Given the description of an element on the screen output the (x, y) to click on. 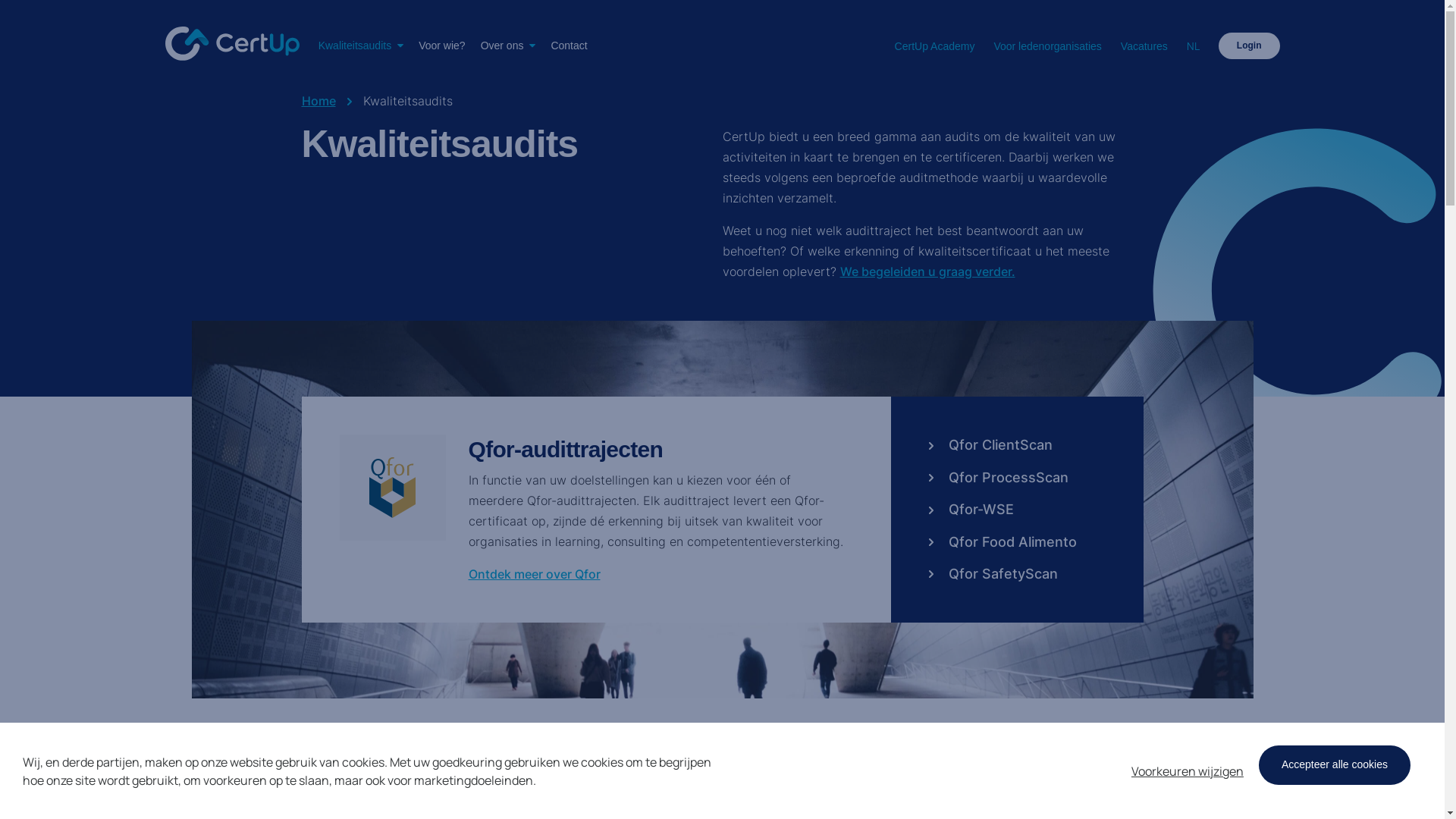
Voor ledenorganisaties Element type: text (1047, 46)
Qfor ClientScan Element type: text (989, 444)
Qfor-WSE Element type: text (970, 509)
CertUp Academy Element type: text (934, 46)
Qfor Food Alimento Element type: text (1002, 541)
Login Element type: text (1249, 44)
Ontdek meer over Qfor Element type: text (534, 573)
Vacatures Element type: text (1143, 46)
Kwaliteitsaudits Element type: text (360, 44)
Home Element type: text (318, 101)
Contact Element type: text (568, 44)
Qfor ProcessScan Element type: text (997, 477)
Over ons Element type: text (508, 44)
We begeleiden u graag verder. Element type: text (927, 271)
Qfor SafetyScan Element type: text (992, 573)
Voor wie? Element type: text (441, 44)
